Given the description of an element on the screen output the (x, y) to click on. 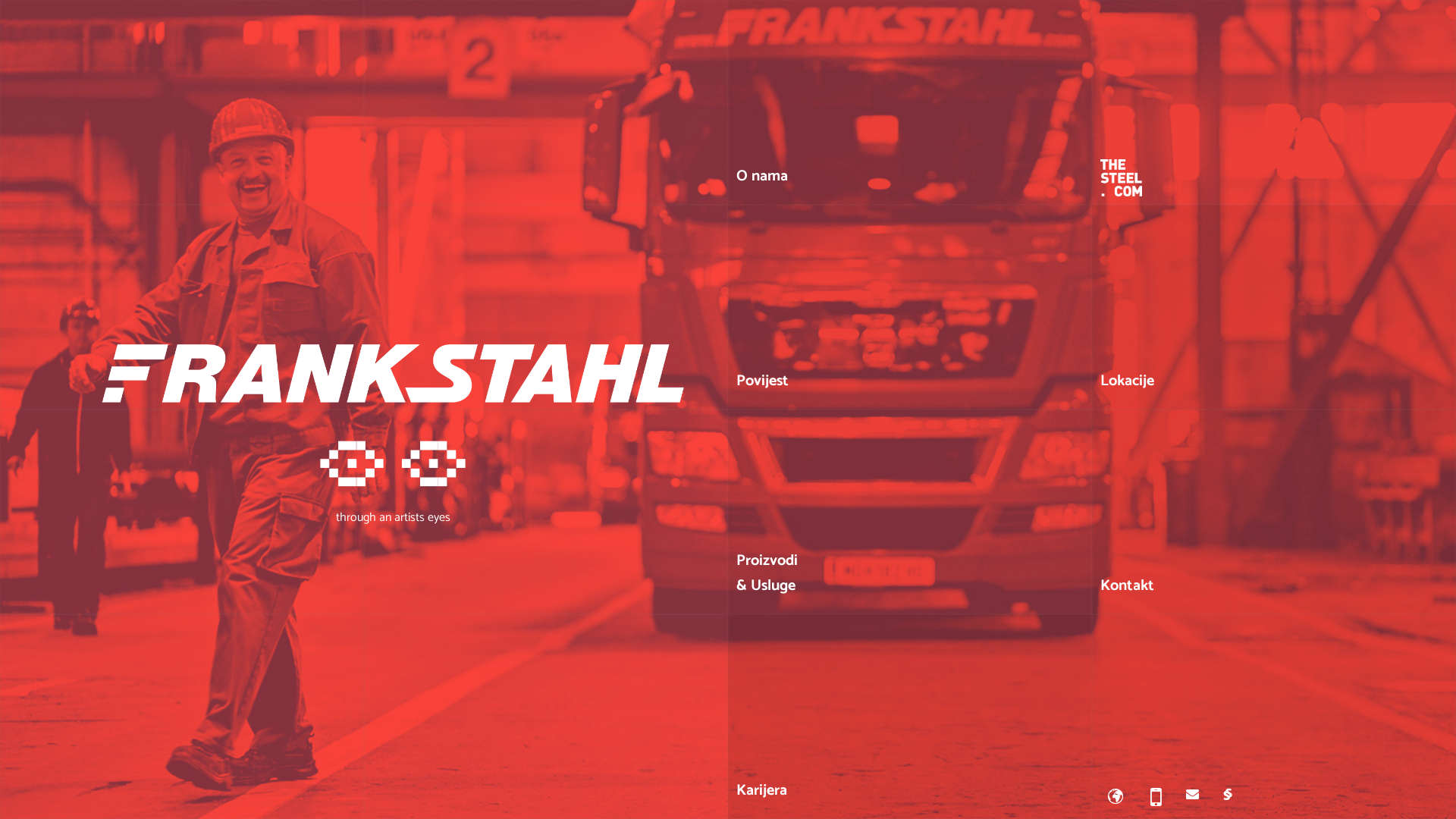
through an artists eyes Element type: text (392, 477)
